Given the description of an element on the screen output the (x, y) to click on. 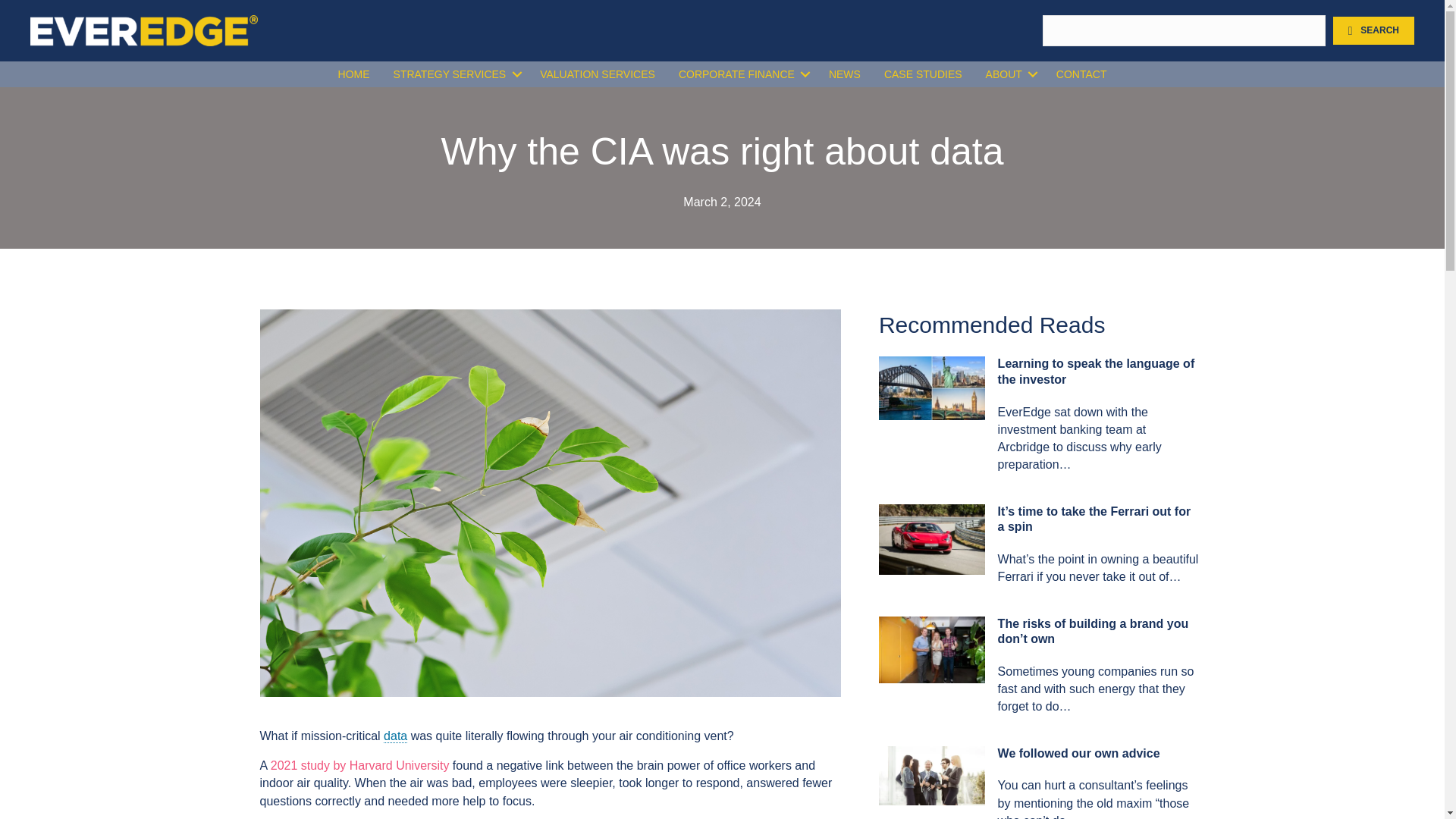
2021 study by Harvard University (359, 765)
We followed our own advice (1078, 753)
We followed our own advice (932, 774)
data (395, 735)
STRATEGY SERVICES (454, 73)
VALUATION SERVICES (597, 73)
HOME (353, 73)
Learning to speak the language of the investor (1096, 371)
Learning to speak the language of the investor (932, 386)
